Given the description of an element on the screen output the (x, y) to click on. 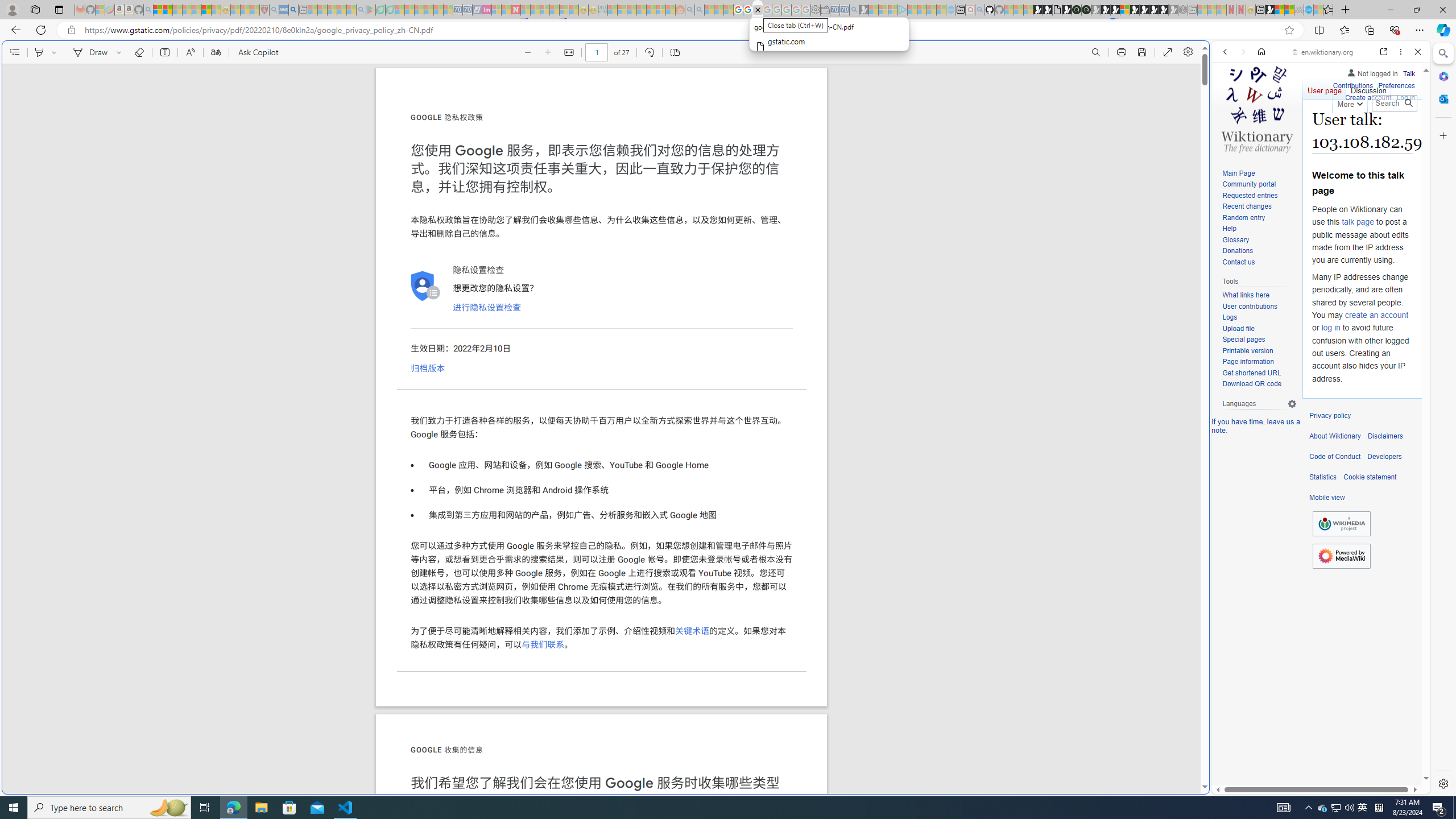
Trusted Community Engagement and Contributions | Guidelines (525, 9)
New Report Confirms 2023 Was Record Hot | Watch - Sleeping (196, 9)
Page information (1259, 361)
Navy Quest (1299, 9)
Log in (1405, 98)
Fit to width (Ctrl+\) (569, 52)
Printable version (1259, 351)
